Given the description of an element on the screen output the (x, y) to click on. 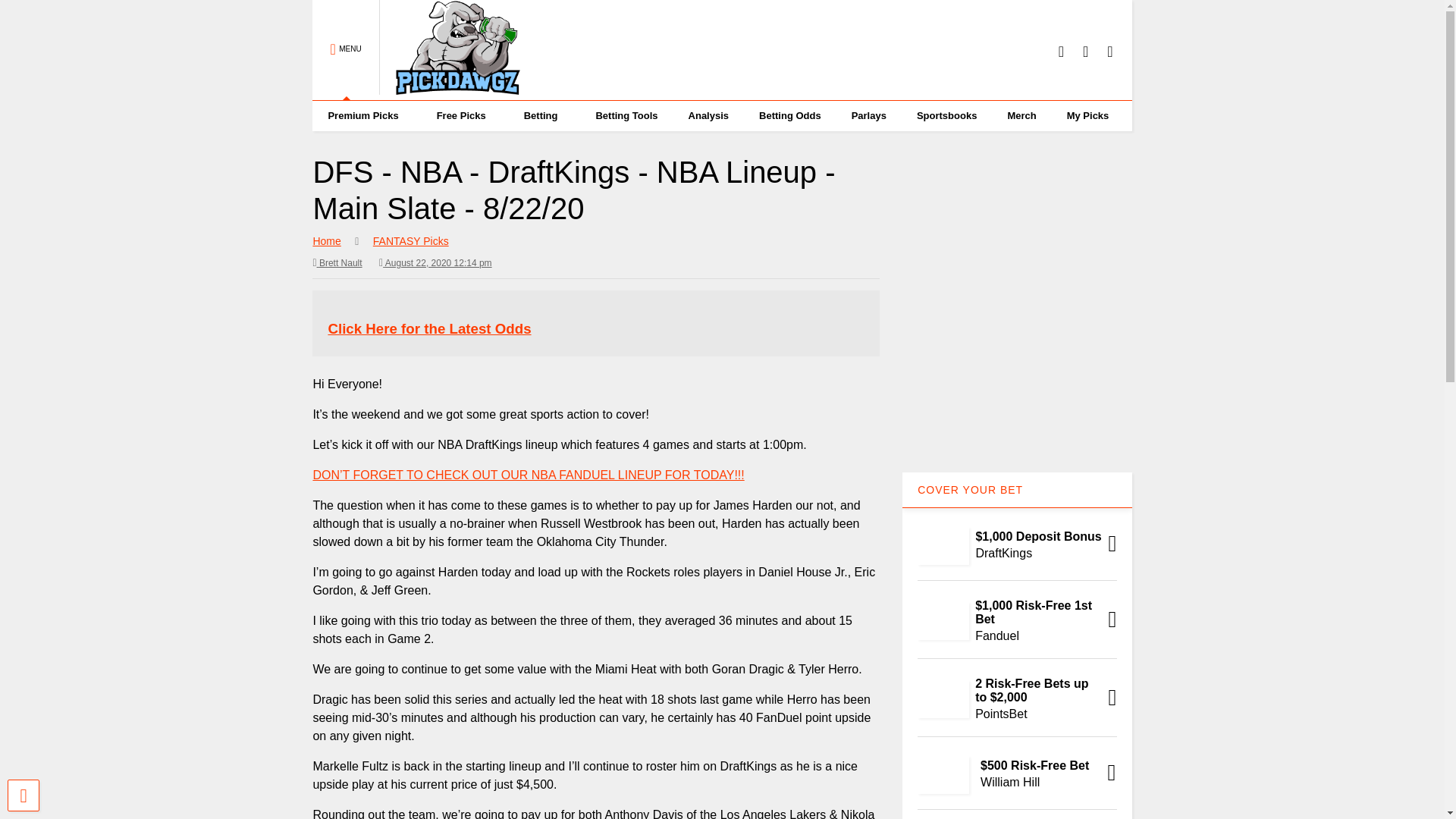
Betting (544, 115)
Brett Nault (337, 263)
MENU (345, 49)
2020-08-22T12:14:58-0400 (435, 263)
Betting Tools (625, 115)
Premium Picks (366, 115)
Analysis (708, 115)
Free Picks (465, 115)
PickDawgz (449, 87)
